Given the description of an element on the screen output the (x, y) to click on. 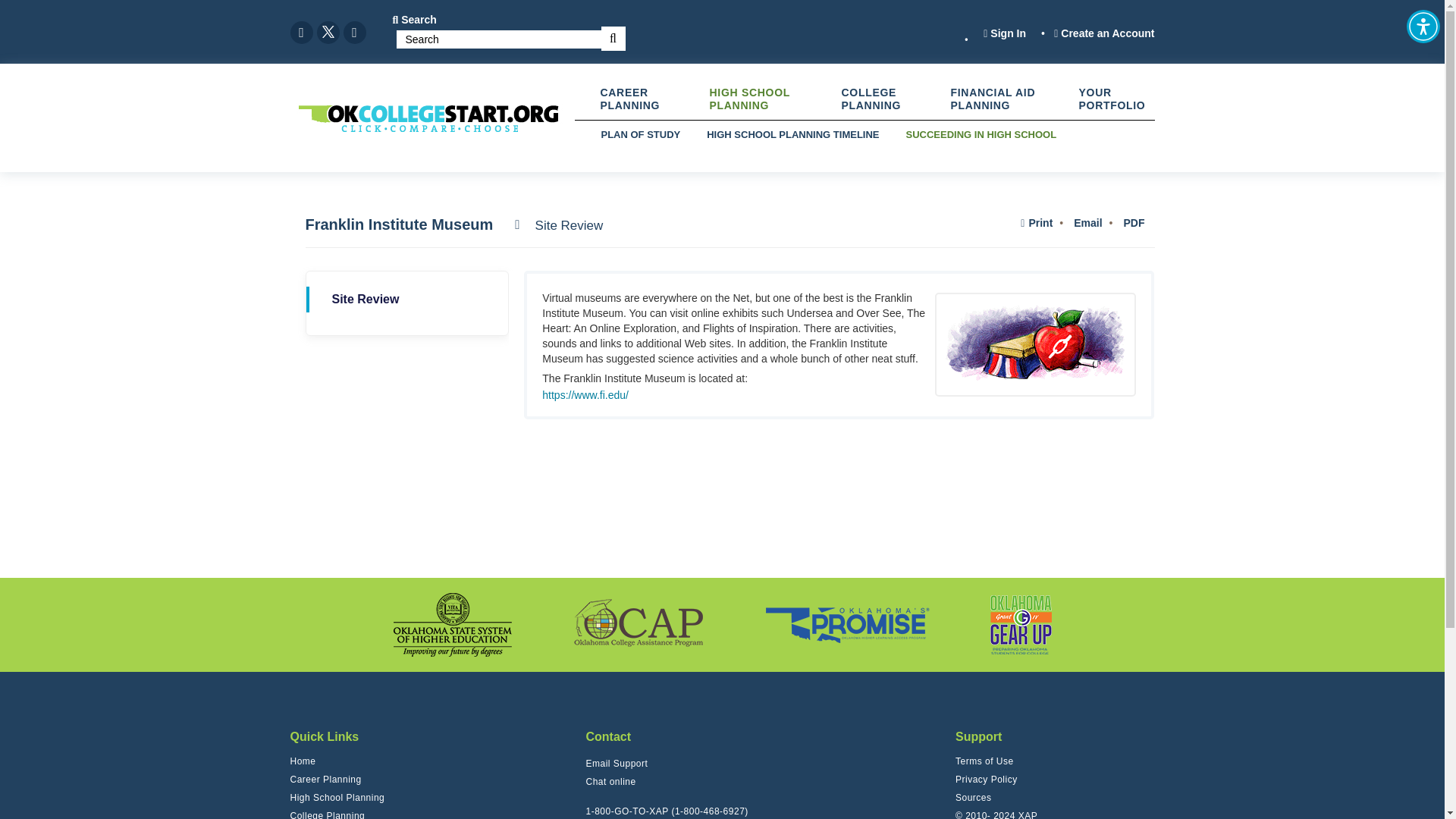
Visit our YouTube Channel (353, 32)
High School Planning (336, 797)
PDF (1131, 223)
Like us on Facebook (301, 32)
Email Support (616, 763)
CAREER PLANNING (652, 99)
Terms of Use (984, 761)
COLLEGE PLANNING (894, 99)
Like us on Facebook (301, 32)
Oklahoma Higher Education (452, 624)
Career Planning (325, 779)
Sign In (1005, 33)
Accessibility Menu (1422, 26)
Visit our YouTube Channel (353, 32)
HIGH SCHOOL PLANNING TIMELINE (792, 134)
